Given the description of an element on the screen output the (x, y) to click on. 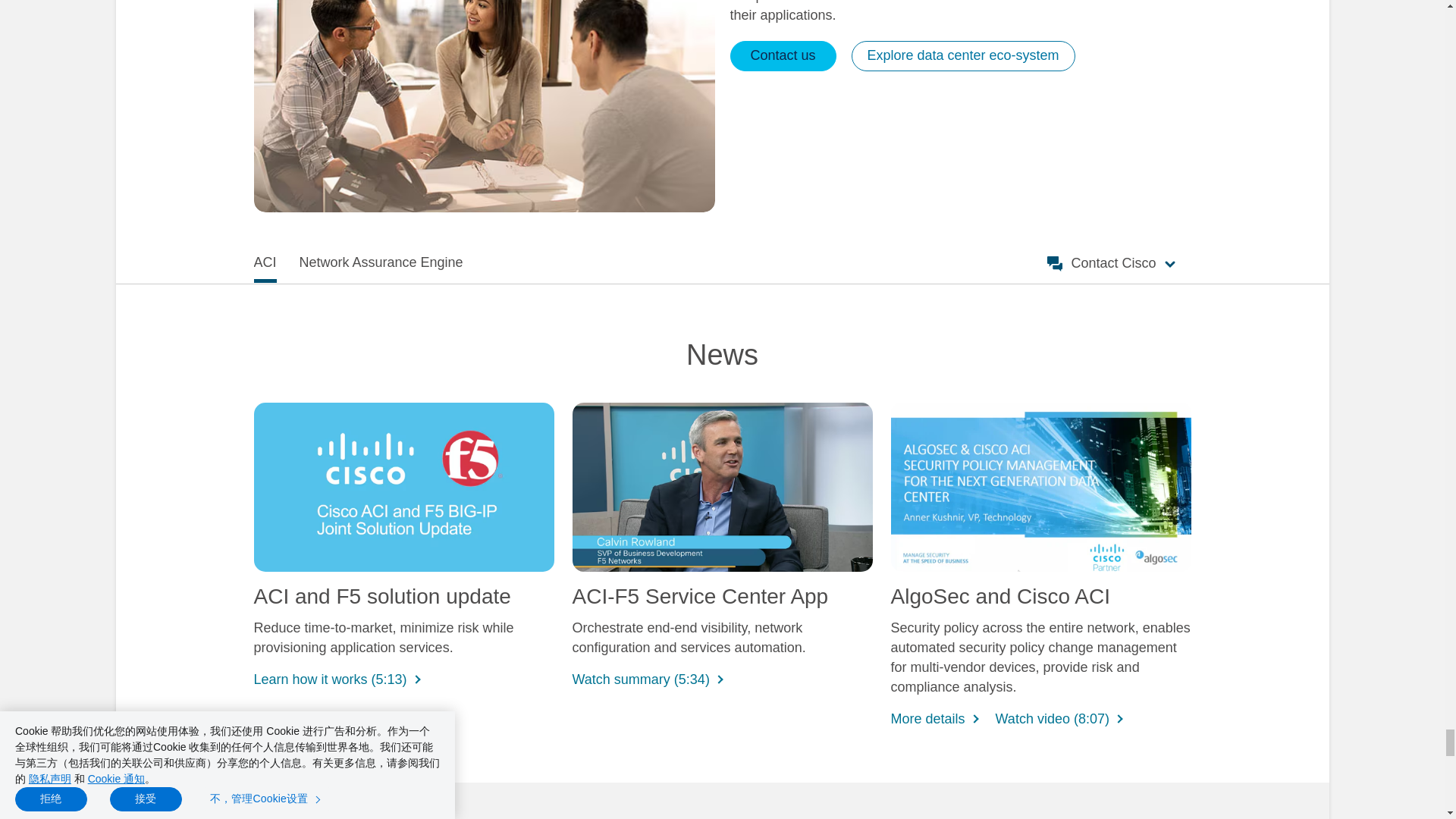
AlgoSec and Cisco ACI (1040, 486)
Network Assurance Engine (381, 262)
Ecosystem Technology Partners (483, 105)
ACI and F5 solution update (403, 486)
Explore data center eco-system (962, 55)
Contact us (782, 55)
ACI-F5 Service Center App (722, 486)
Contact Cisco (1109, 263)
More details (926, 716)
